Given the description of an element on the screen output the (x, y) to click on. 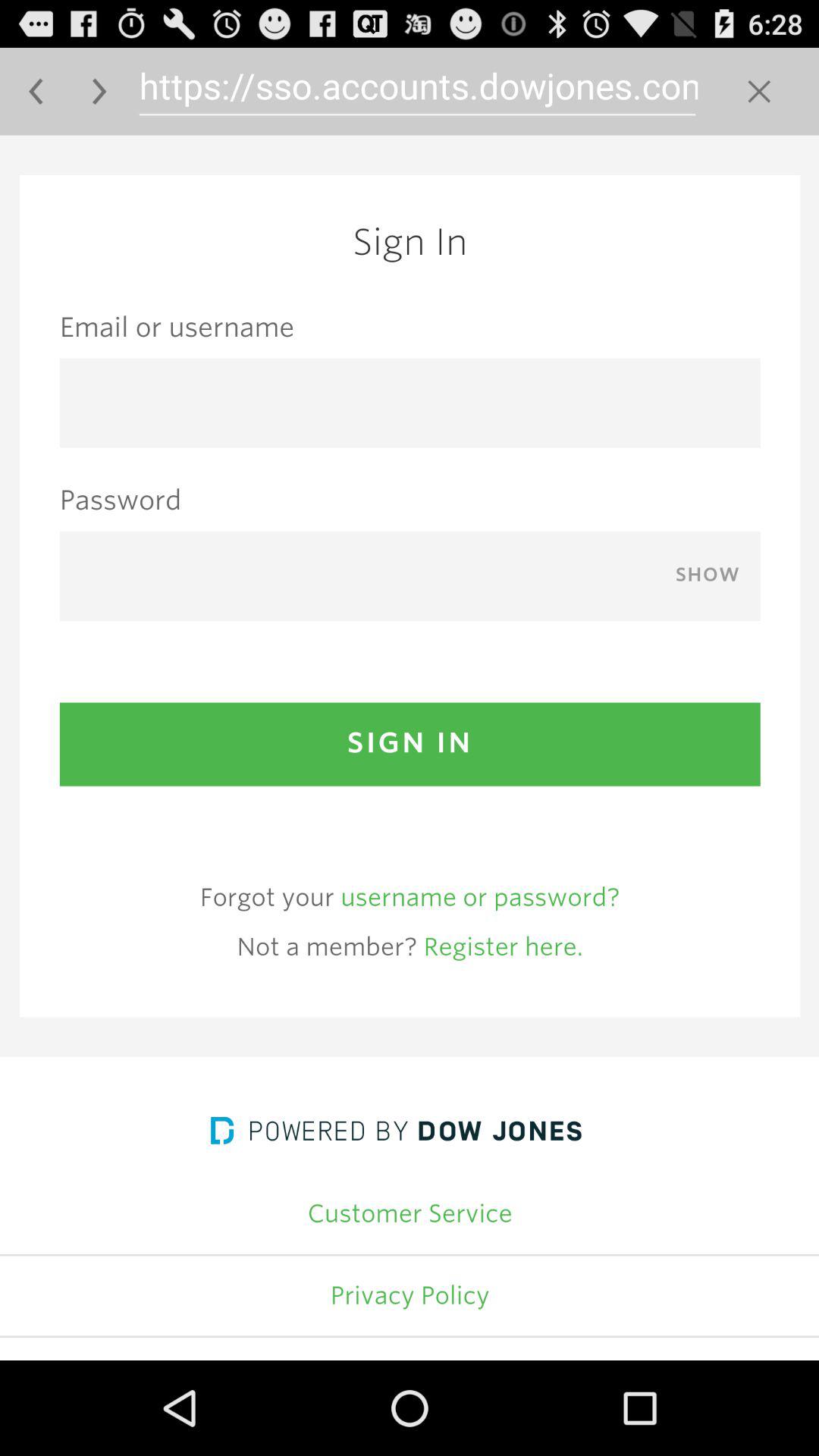
to delete the complete text (759, 91)
